Given the description of an element on the screen output the (x, y) to click on. 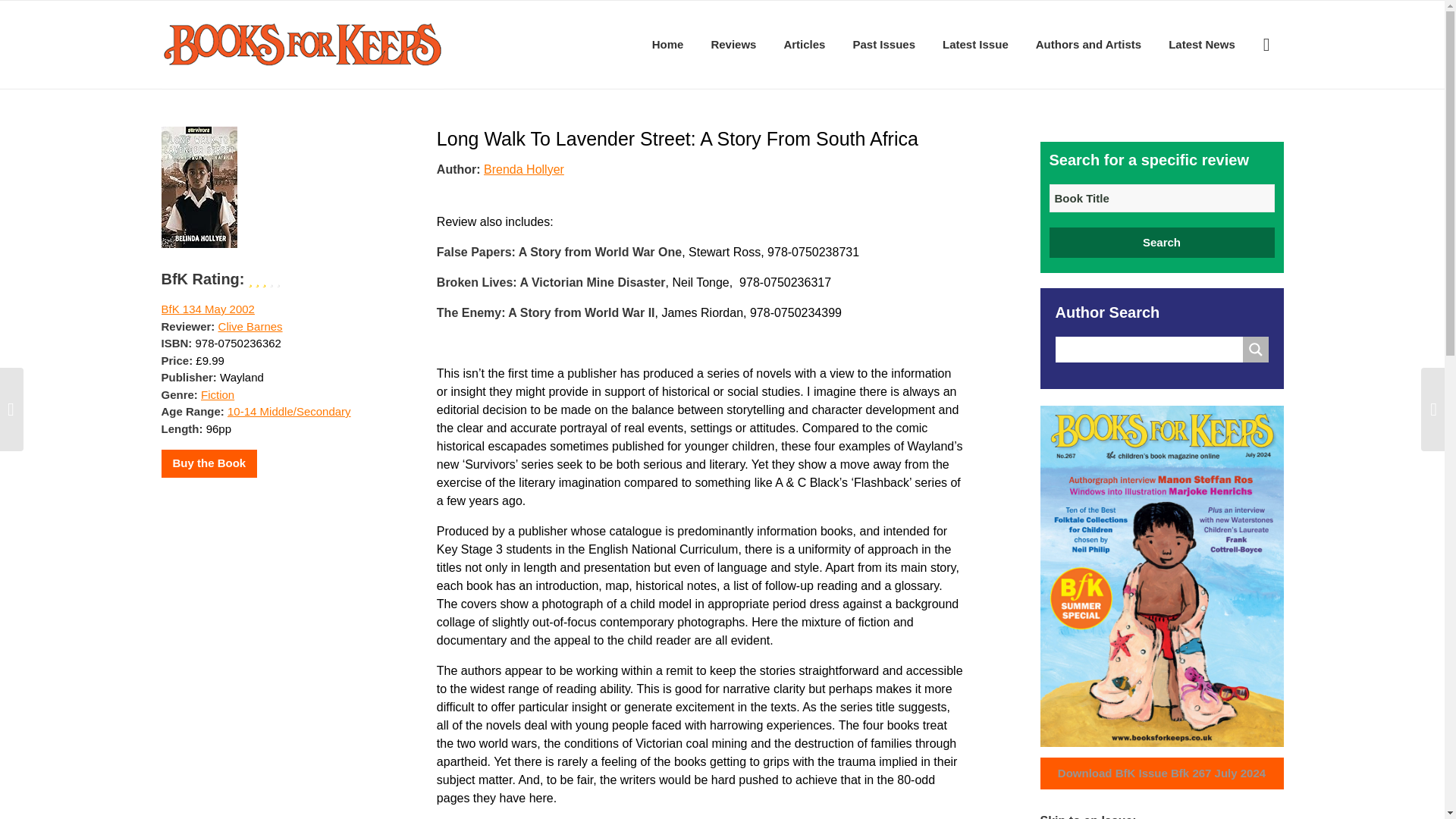
Latest News (1201, 44)
Search (1162, 242)
BfK 134 May 2002 (206, 308)
Search (1162, 242)
Latest Issue (975, 44)
Past Issues (883, 44)
Fiction (217, 394)
Download BfK Issue Bfk 267 July 2024 (1162, 773)
Brenda Hollyer (523, 168)
Long Walk To Lavender Street: A Story From South Africa (677, 138)
Buy the Book (208, 463)
Clive Barnes (250, 326)
Authors and Artists (1088, 44)
